Given the description of an element on the screen output the (x, y) to click on. 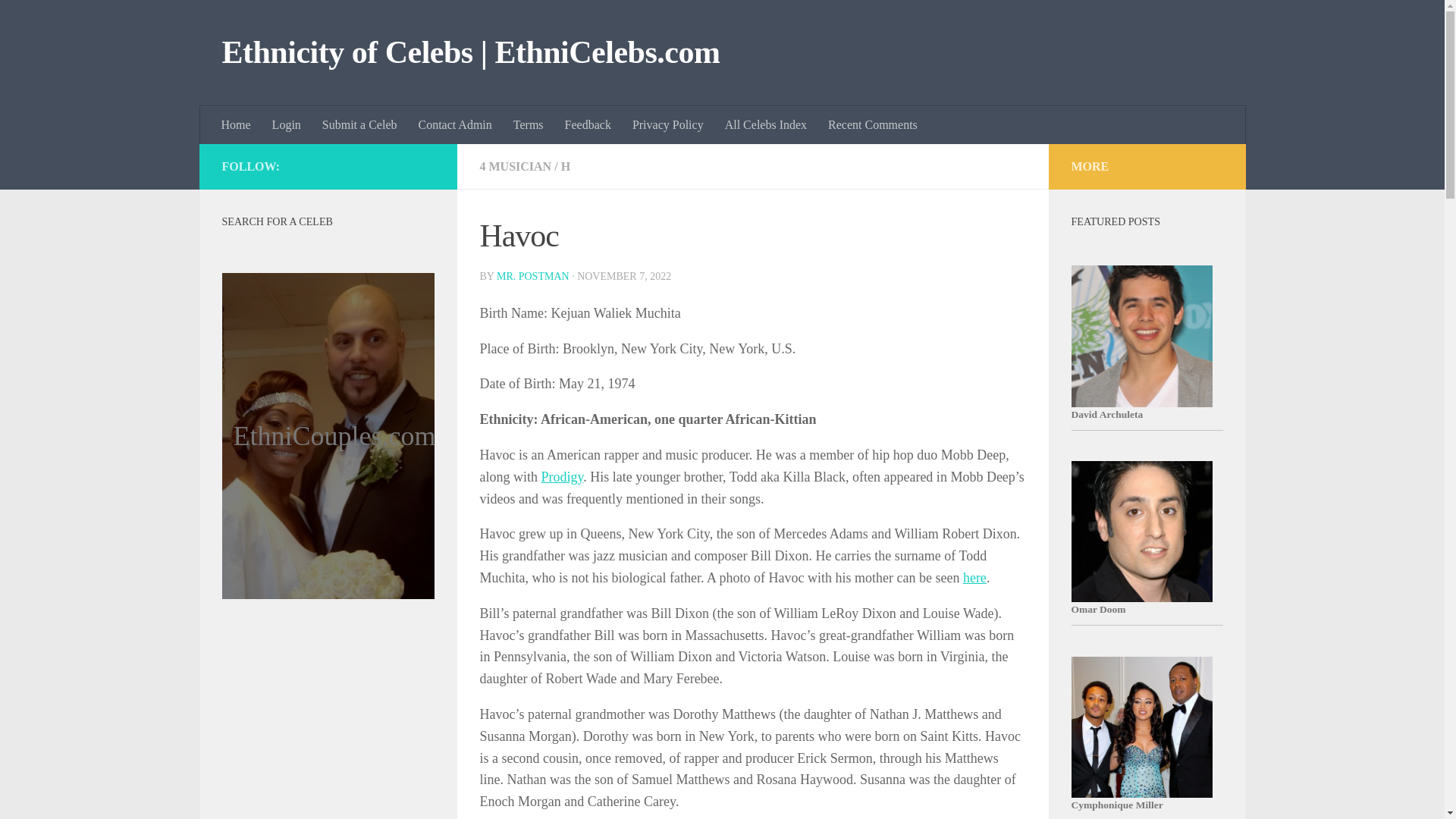
Privacy Policy (667, 125)
4 MUSICIAN (515, 165)
Recent Comments (872, 125)
Submit a Celeb (359, 125)
MR. POSTMAN (532, 276)
Login (286, 125)
Home (236, 125)
All Celebs Index (765, 125)
Prodigy (562, 476)
here (974, 577)
